Given the description of an element on the screen output the (x, y) to click on. 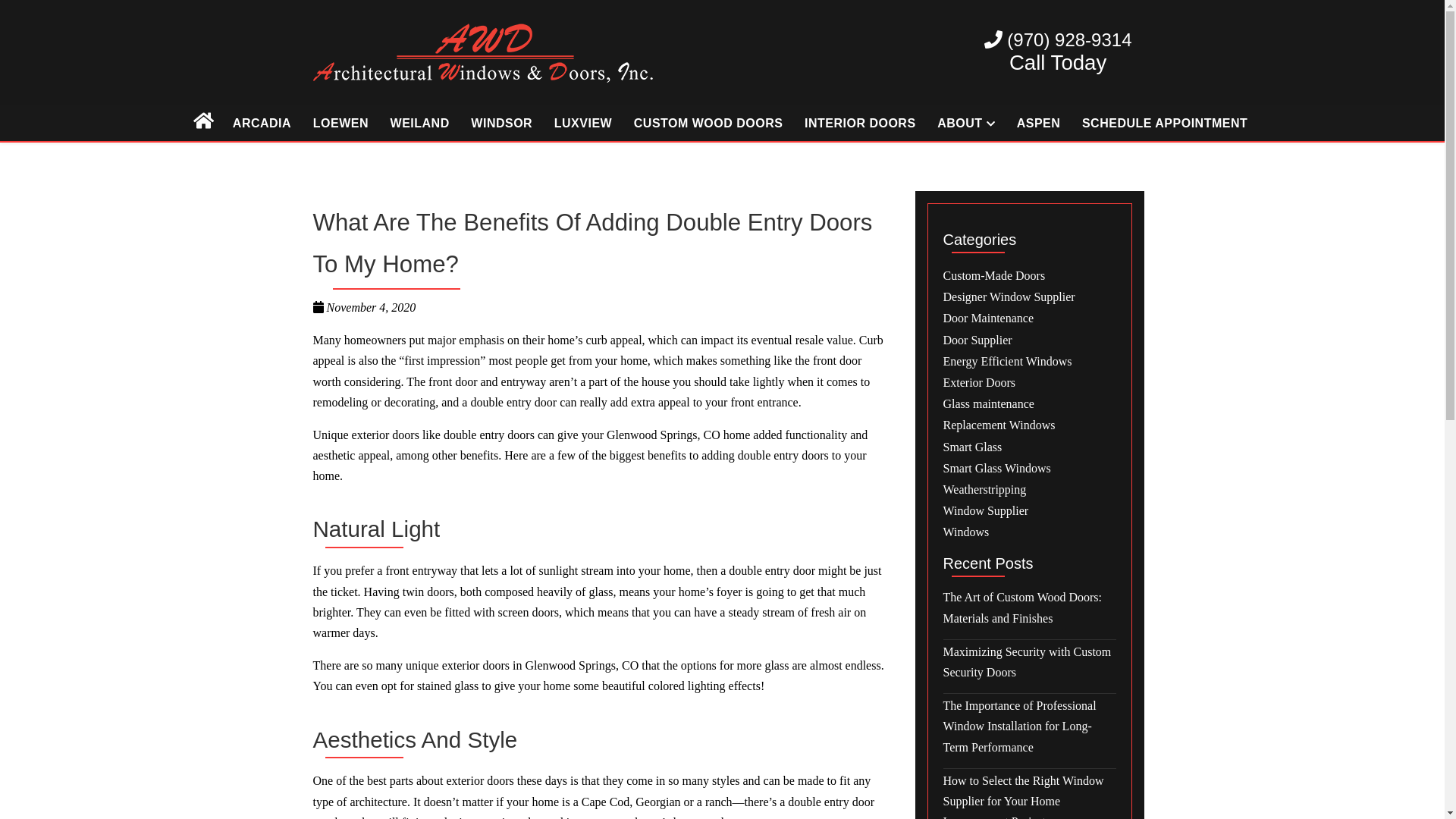
Energy Efficient Windows Element type: text (1029, 363)
Custom-Made Doors Element type: text (1029, 277)
Exterior Doors Element type: text (1029, 384)
ASPEN Element type: text (1038, 122)
ABOUT Element type: text (966, 122)
ARCADIA Element type: text (261, 122)
Door Maintenance Element type: text (1029, 320)
WINDSOR Element type: text (501, 122)
Smart Glass Element type: text (1029, 448)
INTERIOR DOORS Element type: text (860, 122)
Weatherstripping Element type: text (1029, 491)
(970) 928-9314 Element type: text (1058, 39)
LUXVIEW Element type: text (583, 122)
WEILAND Element type: text (419, 122)
Maximizing Security with Custom Security Doors Element type: text (1029, 664)
LOEWEN Element type: text (340, 122)
Door Supplier Element type: text (1029, 342)
Designer Window Supplier Element type: text (1029, 298)
Smart Glass Windows Element type: text (1029, 470)
The Art of Custom Wood Doors: Materials and Finishes Element type: text (1029, 609)
CUSTOM WOOD DOORS Element type: text (708, 122)
Windows Element type: text (1029, 533)
Replacement Windows Element type: text (1029, 427)
Glass maintenance Element type: text (1029, 405)
SCHEDULE APPOINTMENT Element type: text (1164, 122)
Window Supplier Element type: text (1029, 512)
